Given the description of an element on the screen output the (x, y) to click on. 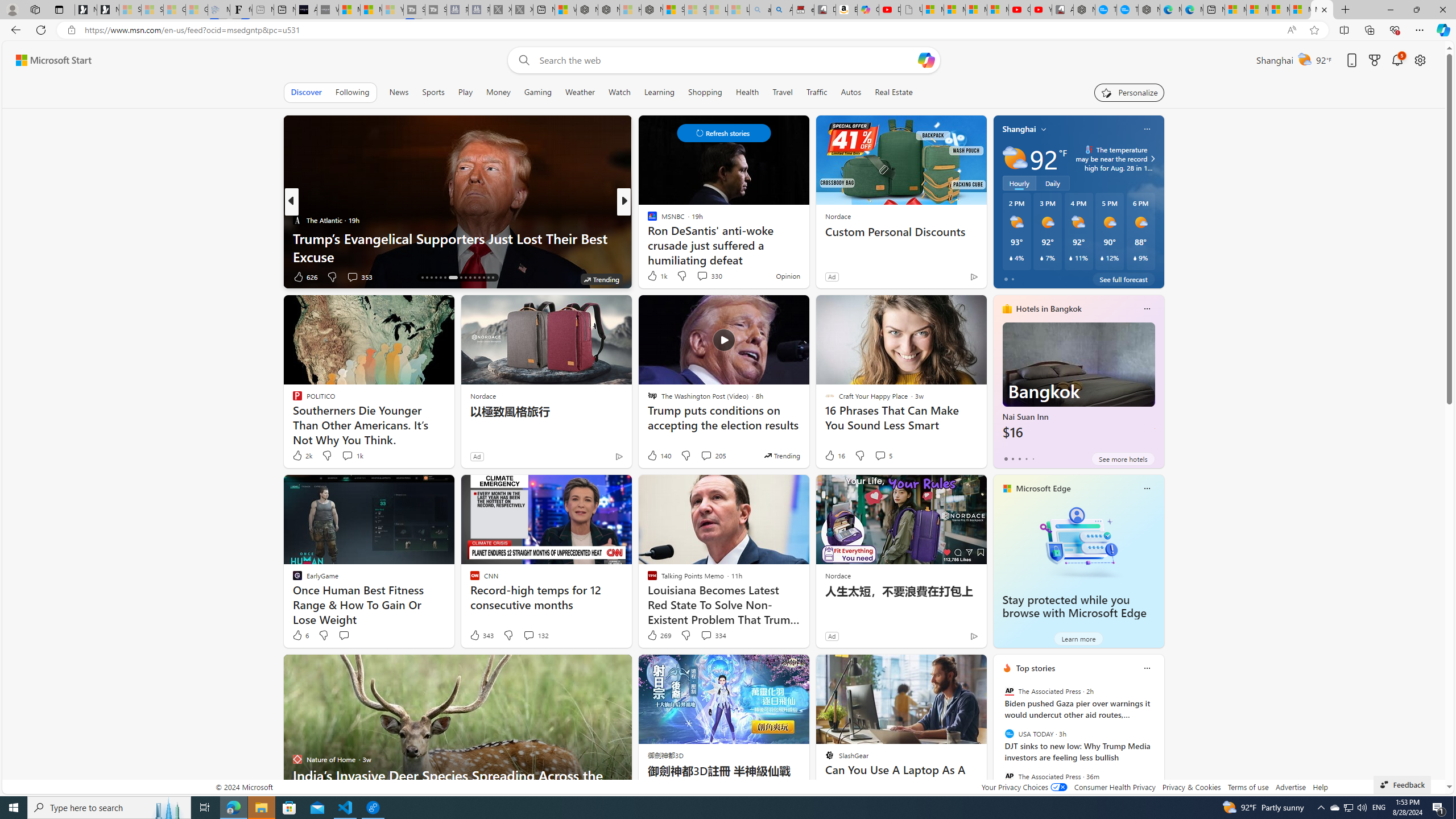
tab-2 (1019, 458)
AutomationID: tab-20 (440, 277)
Open settings (1420, 60)
View comments 353 Comment (352, 276)
Comments turned off for this story (694, 276)
Money (497, 92)
Sports (432, 92)
Money (498, 92)
Real Estate (893, 92)
5 Like (651, 276)
Custom Personal Discounts (900, 232)
